Given the description of an element on the screen output the (x, y) to click on. 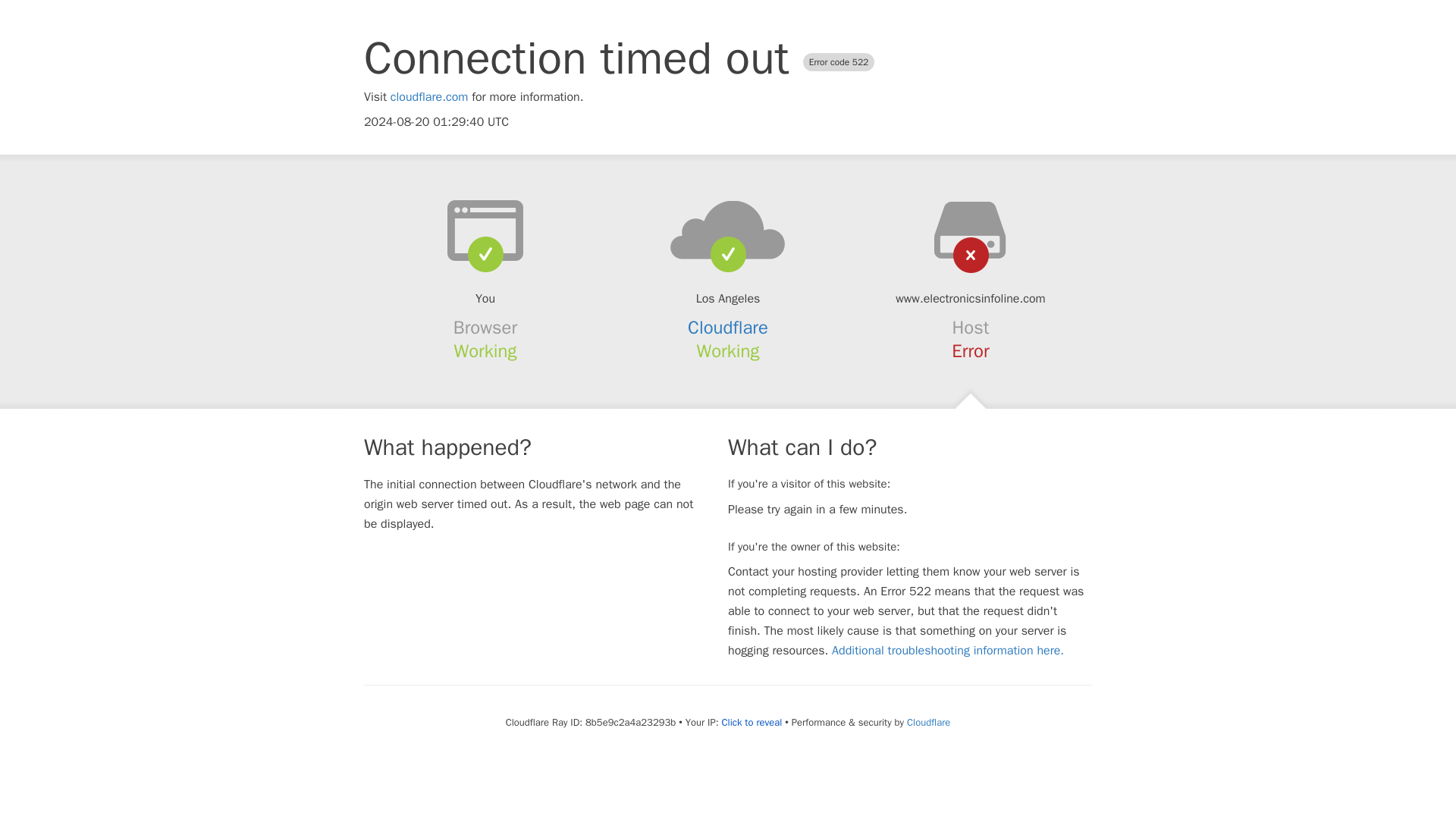
Cloudflare (928, 721)
cloudflare.com (429, 96)
Click to reveal (750, 722)
Additional troubleshooting information here. (947, 650)
Cloudflare (727, 327)
